Given the description of an element on the screen output the (x, y) to click on. 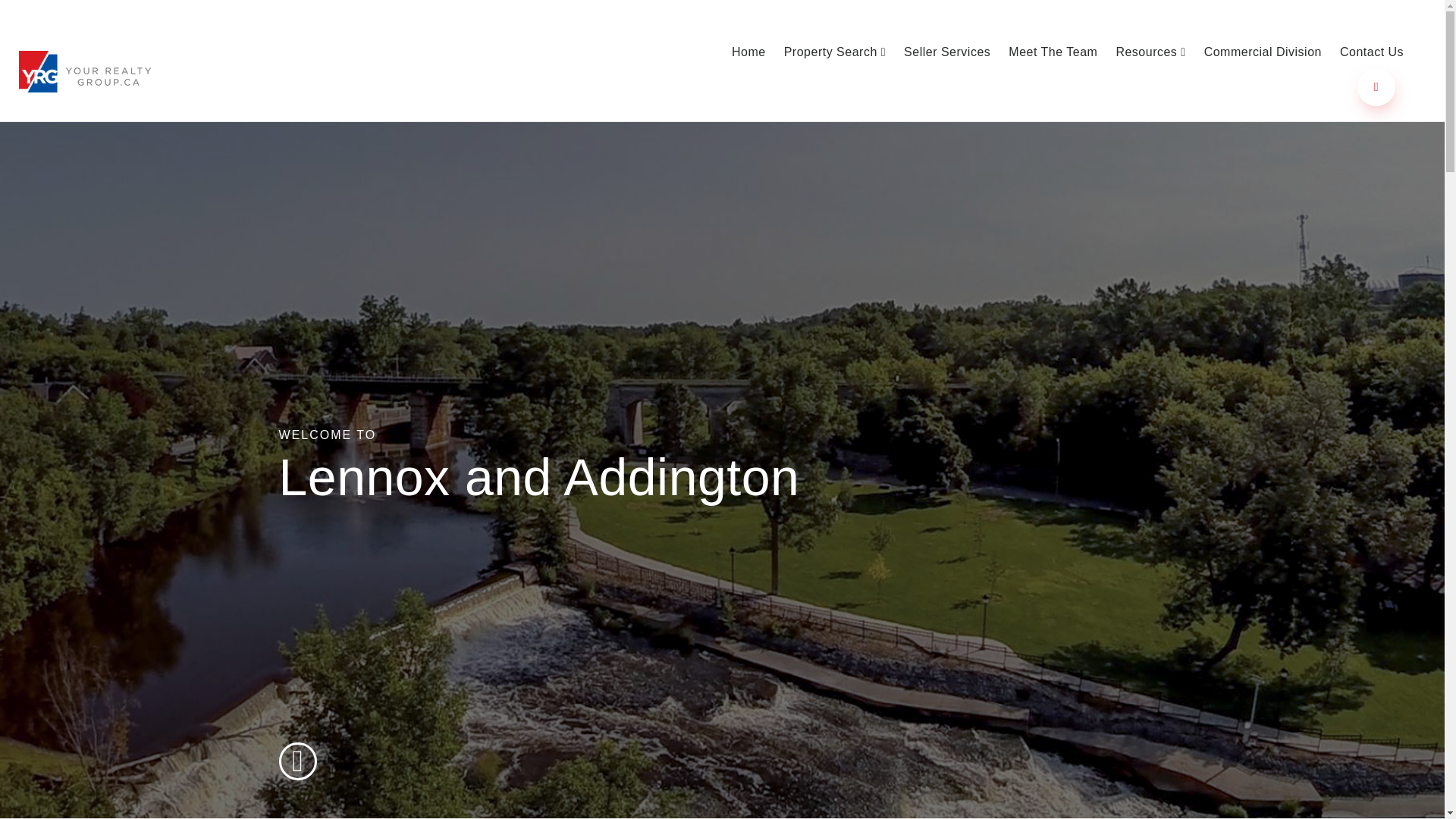
Commercial Division (1262, 51)
Meet The Team (1052, 51)
Contact Us (1371, 51)
Seller Services (946, 51)
Property Search (834, 51)
Home (748, 51)
Resources (1149, 51)
